Given the description of an element on the screen output the (x, y) to click on. 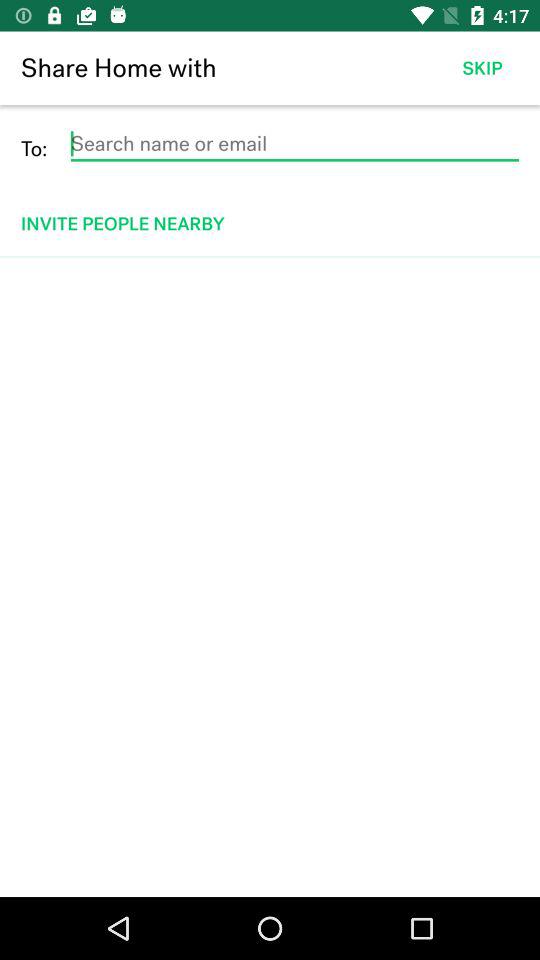
open skip icon (482, 68)
